Given the description of an element on the screen output the (x, y) to click on. 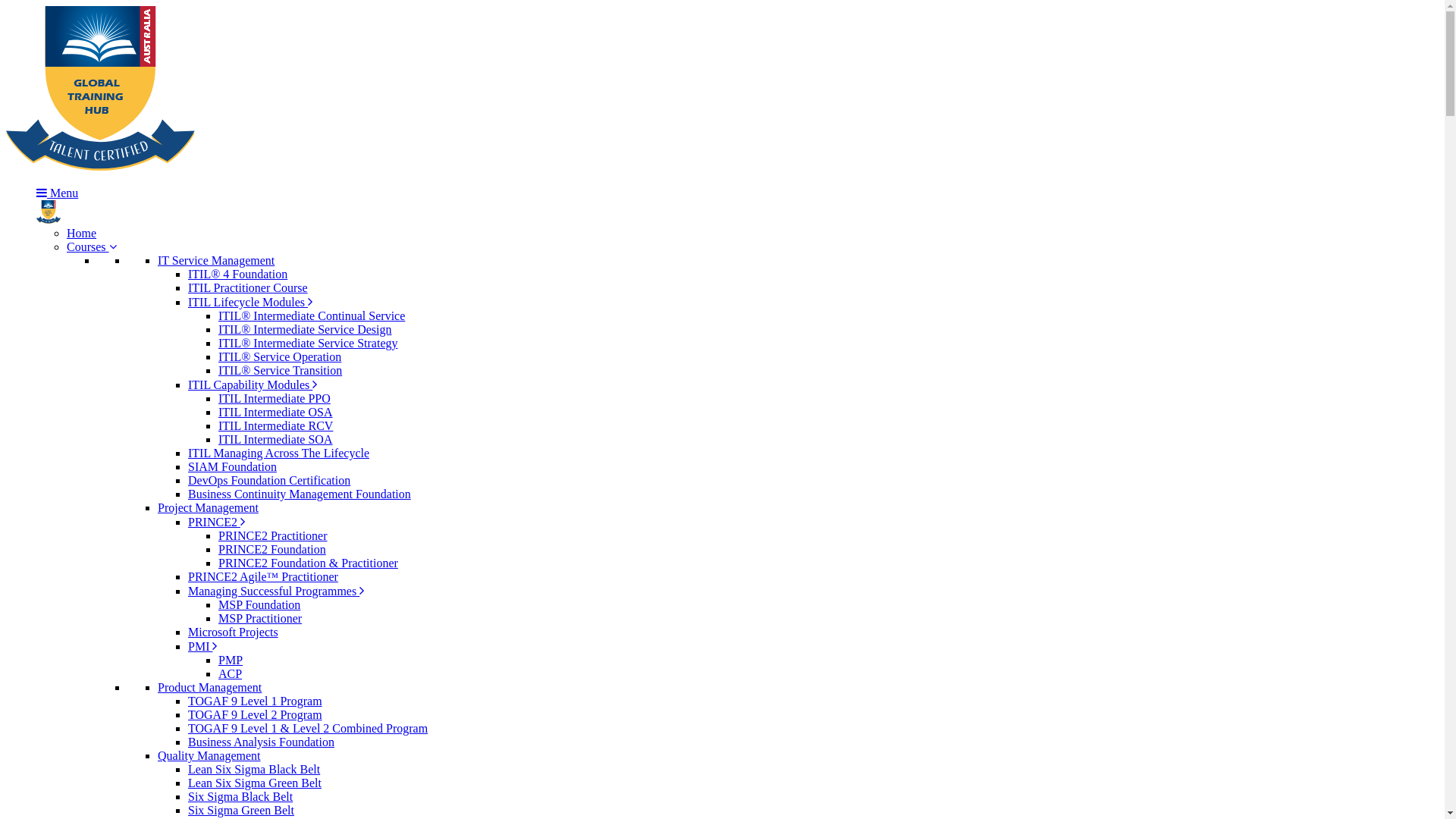
Lean Six Sigma Black Belt Element type: text (254, 768)
Courses Element type: text (91, 246)
ITIL Lifecycle Modules Element type: text (250, 301)
ITIL Intermediate RCV Element type: text (275, 425)
ITIL Managing Across The Lifecycle Element type: text (278, 452)
SIAM Foundation Element type: text (232, 466)
Home Element type: text (81, 232)
Menu Element type: text (57, 192)
Microsoft Projects Element type: text (233, 631)
ITIL Intermediate OSA Element type: text (275, 411)
Quality Management Element type: text (208, 755)
MSP Foundation Element type: text (259, 604)
PRINCE2 Foundation & Practitioner Element type: text (308, 562)
ITIL Practitioner Course Element type: text (247, 287)
Lean Six Sigma Green Belt Element type: text (254, 782)
TOGAF 9 Level 1 Program Element type: text (255, 700)
Project Management Element type: text (207, 507)
ITIL Intermediate PPO Element type: text (274, 398)
MSP Practitioner Element type: text (259, 617)
Product Management Element type: text (209, 686)
PMP Element type: text (230, 659)
Business Analysis Foundation Element type: text (261, 741)
PMI Element type: text (202, 646)
PRINCE2 Foundation Element type: text (272, 548)
TOGAF 9 Level 1 & Level 2 Combined Program Element type: text (307, 727)
Business Continuity Management Foundation Element type: text (299, 493)
PRINCE2 Practitioner Element type: text (272, 535)
ACP Element type: text (229, 673)
ITIL Intermediate SOA Element type: text (275, 439)
Managing Successful Programmes Element type: text (276, 590)
Six Sigma Black Belt Element type: text (240, 796)
Six Sigma Green Belt Element type: text (241, 809)
IT Service Management Element type: text (215, 260)
TOGAF 9 Level 2 Program Element type: text (255, 714)
ITIL Capability Modules Element type: text (252, 384)
PRINCE2 Element type: text (216, 521)
DevOps Foundation Certification Element type: text (269, 479)
